Given the description of an element on the screen output the (x, y) to click on. 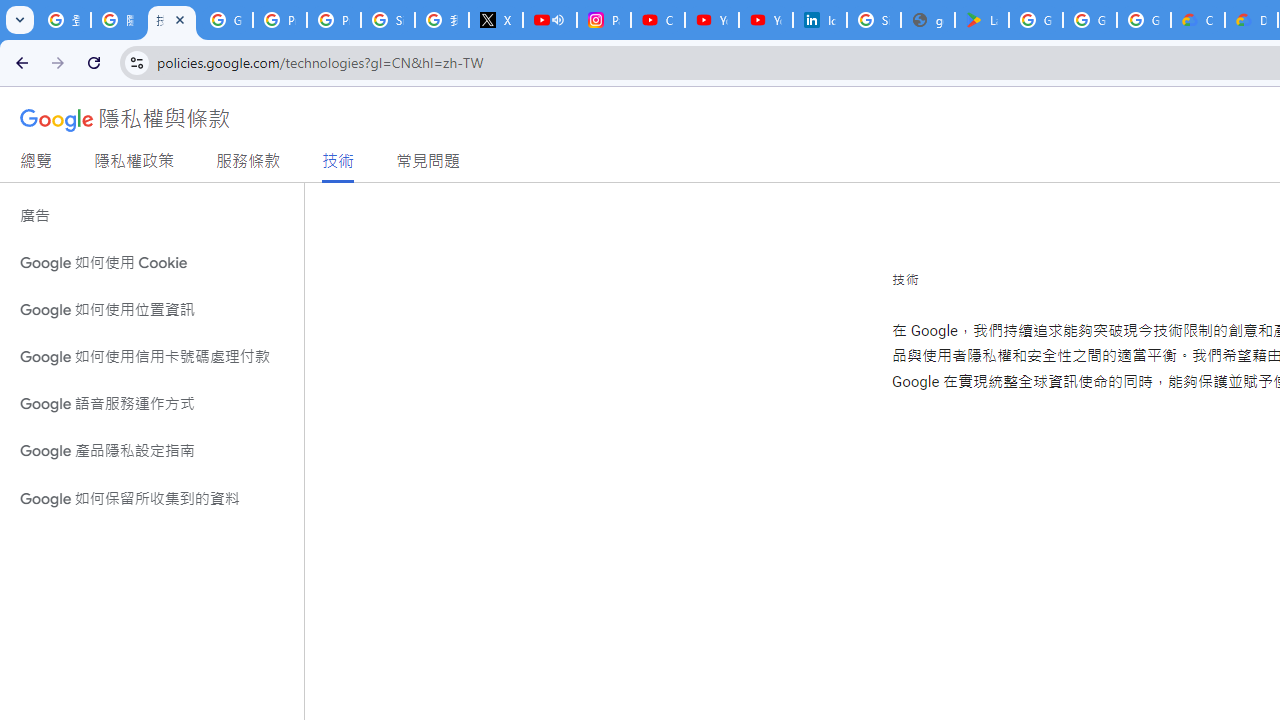
Google Workspace - Specific Terms (1089, 20)
Last Shelter: Survival - Apps on Google Play (981, 20)
Privacy Help Center - Policies Help (280, 20)
